Given the description of an element on the screen output the (x, y) to click on. 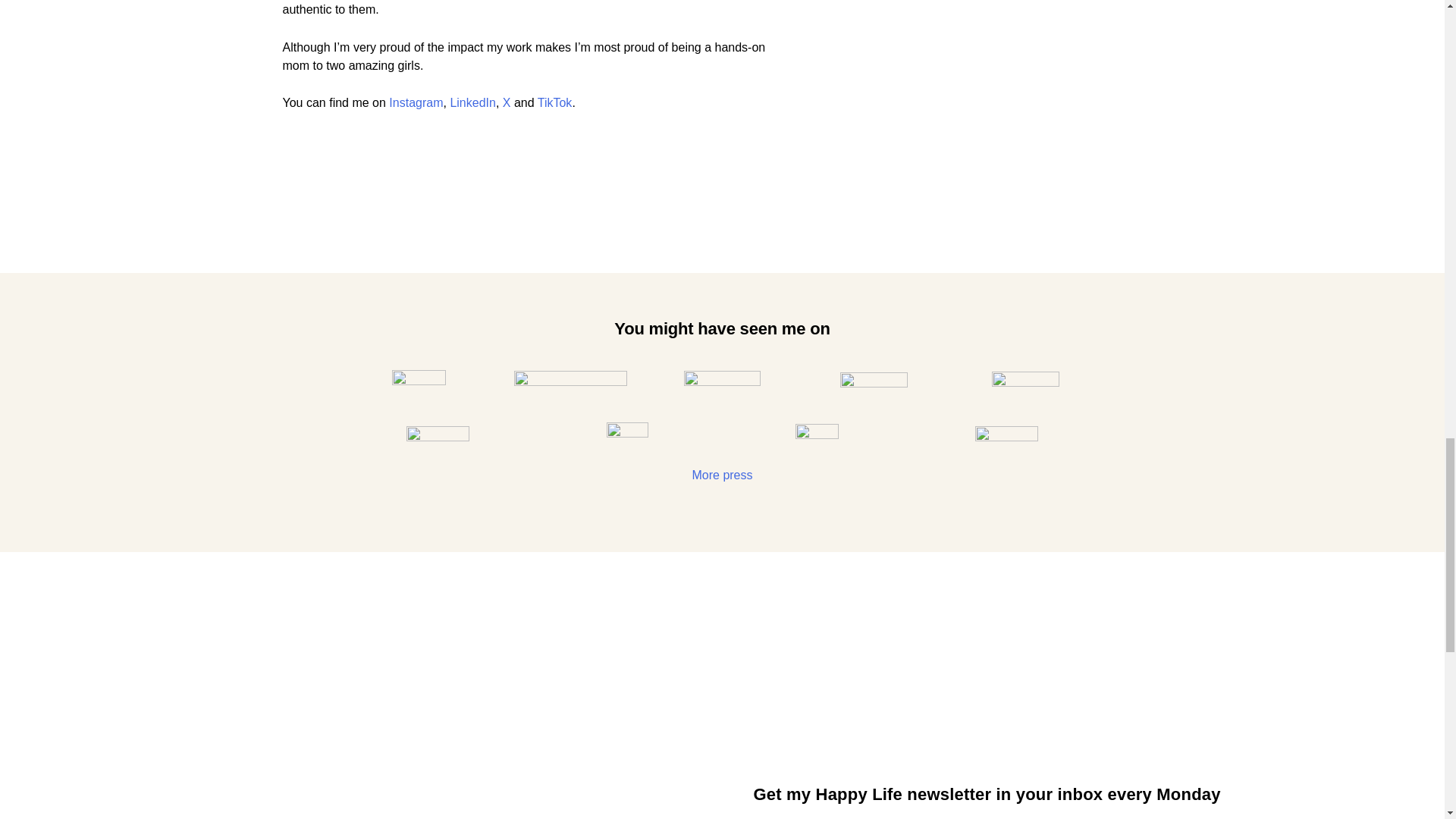
Instagram (415, 102)
LinkedIn (472, 102)
More press (721, 474)
TikTok (554, 102)
